Given the description of an element on the screen output the (x, y) to click on. 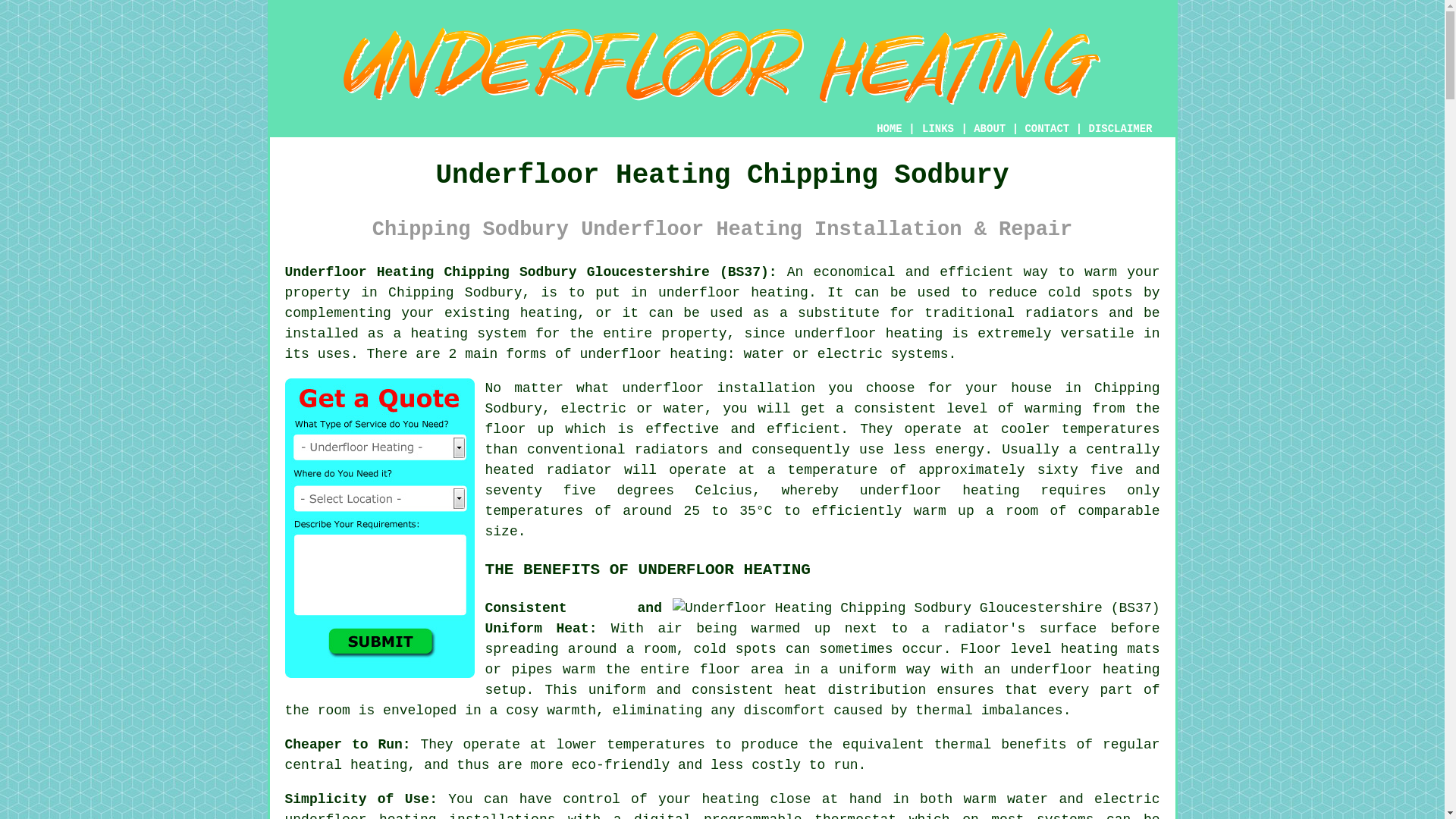
Floor level heating (1038, 648)
Underfloor Heating Chipping Sodbury (721, 66)
HOME (889, 128)
heat distribution (855, 689)
underfloor heating (940, 490)
LINKS (938, 128)
underfloor heating (652, 353)
underfloor heating (733, 292)
